Given the description of an element on the screen output the (x, y) to click on. 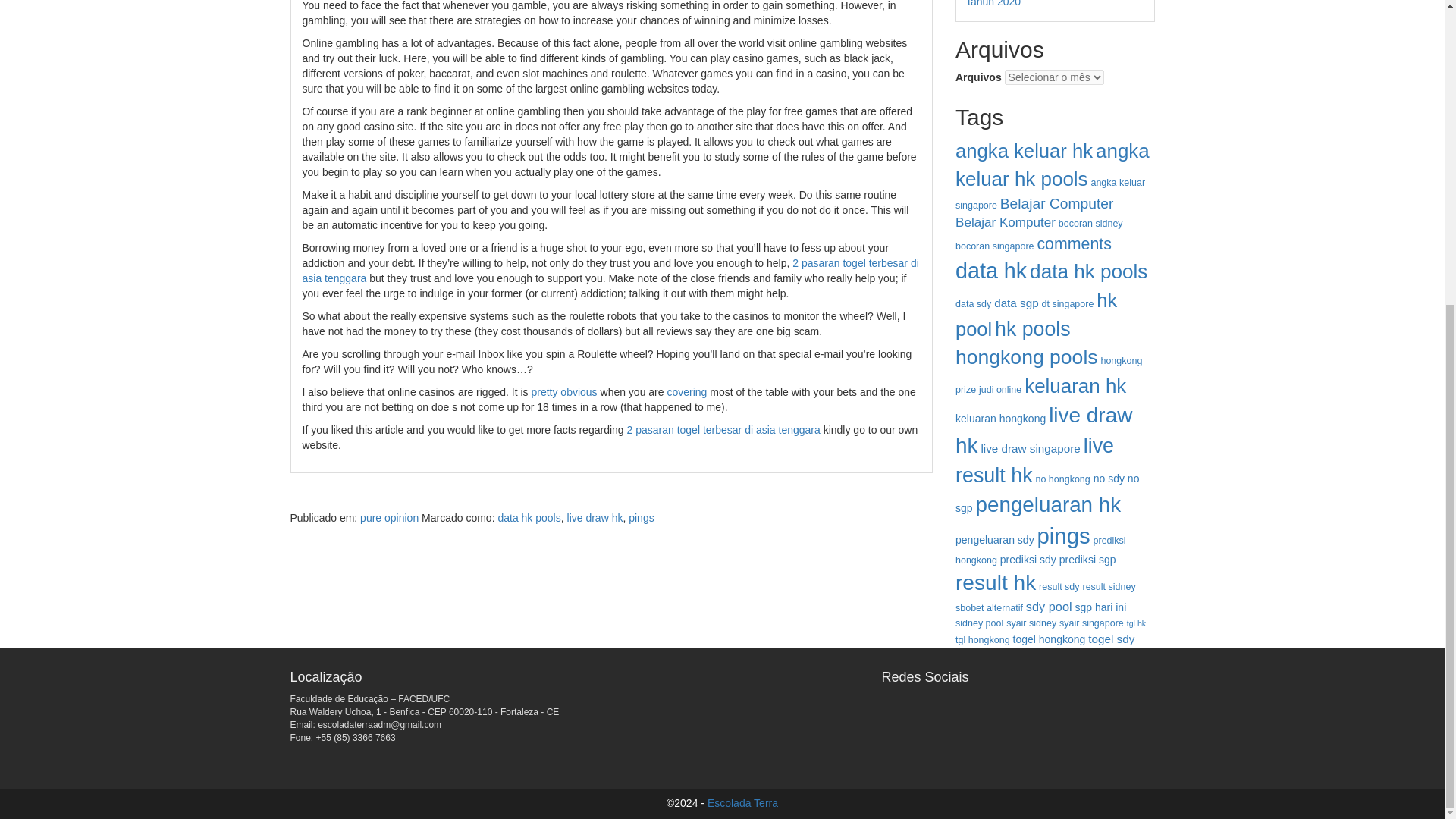
covering (686, 391)
2 pasaran togel terbesar di asia tenggara (722, 429)
data hk (990, 270)
angka keluar hk (1024, 150)
pings (640, 517)
2 pasaran togel terbesar di asia tenggara (609, 270)
pure opinion (389, 517)
bocoran singapore (994, 245)
data hk pools (528, 517)
angka keluar singapore (1049, 193)
